Given the description of an element on the screen output the (x, y) to click on. 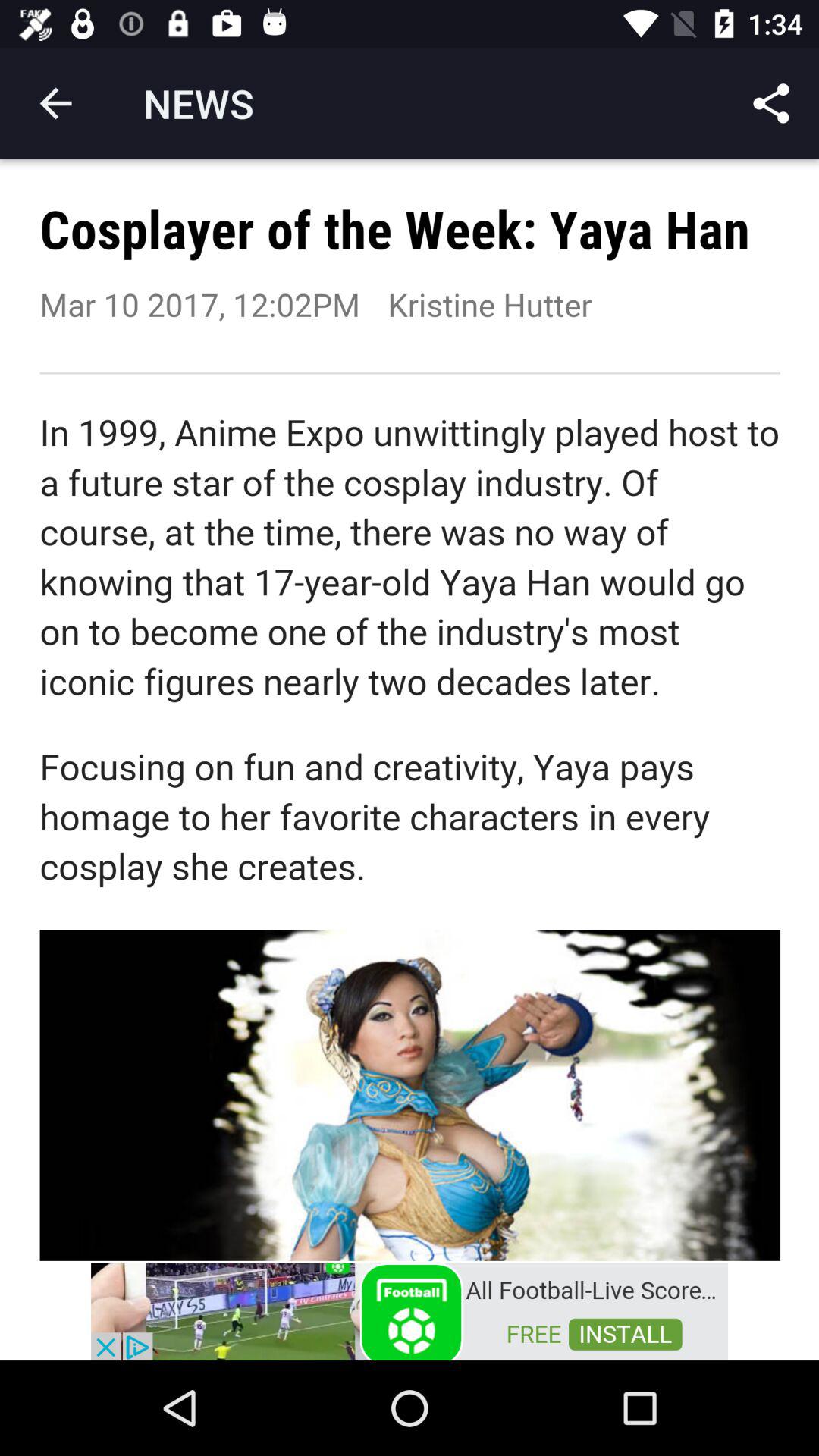
advertisement (409, 1310)
